Given the description of an element on the screen output the (x, y) to click on. 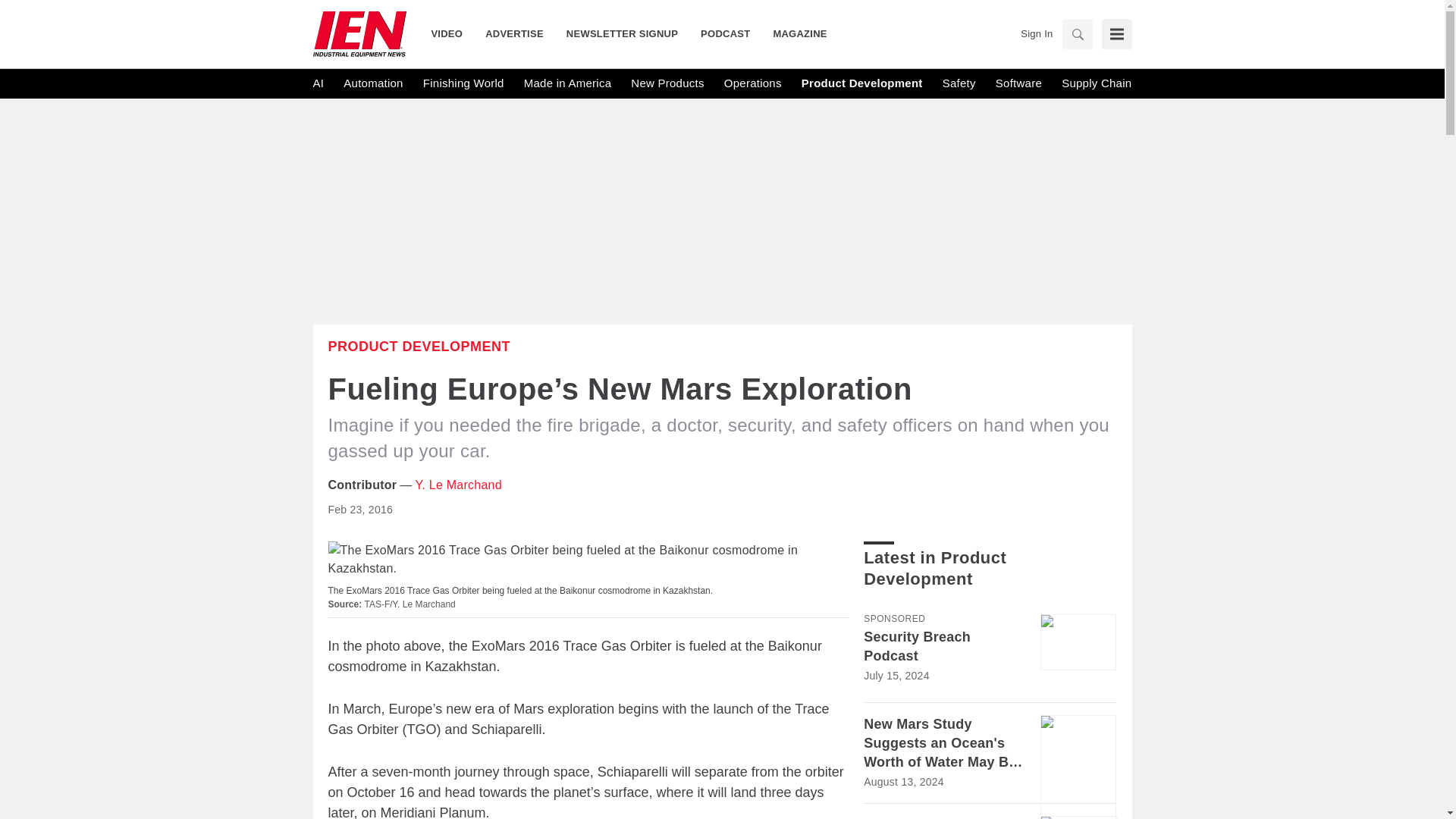
Automation (373, 83)
VIDEO (452, 33)
New Products (666, 83)
Product Development (419, 346)
PODCAST (724, 33)
Product Development (862, 83)
Safety (958, 83)
Software (1018, 83)
Made in America (567, 83)
Supply Chain (1096, 83)
